Given the description of an element on the screen output the (x, y) to click on. 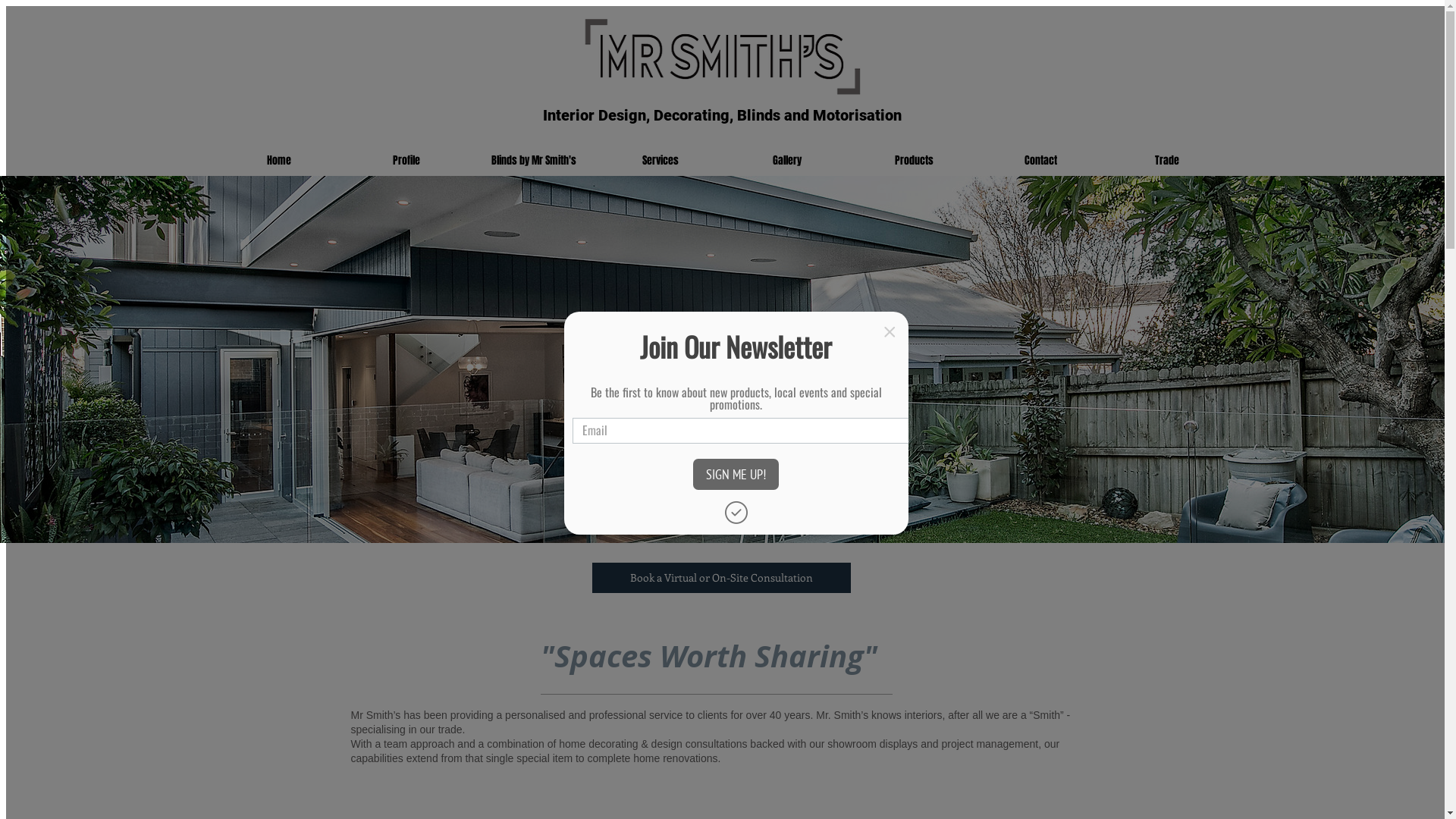
Gallery Element type: text (786, 159)
Services Element type: text (660, 159)
Book a Virtual or On-Site Consultation Element type: text (720, 577)
Contact Element type: text (1039, 159)
Blinds by Mr Smith's Element type: text (533, 159)
Trade Element type: text (1167, 159)
Home Element type: text (278, 159)
Profile Element type: text (406, 159)
